Given the description of an element on the screen output the (x, y) to click on. 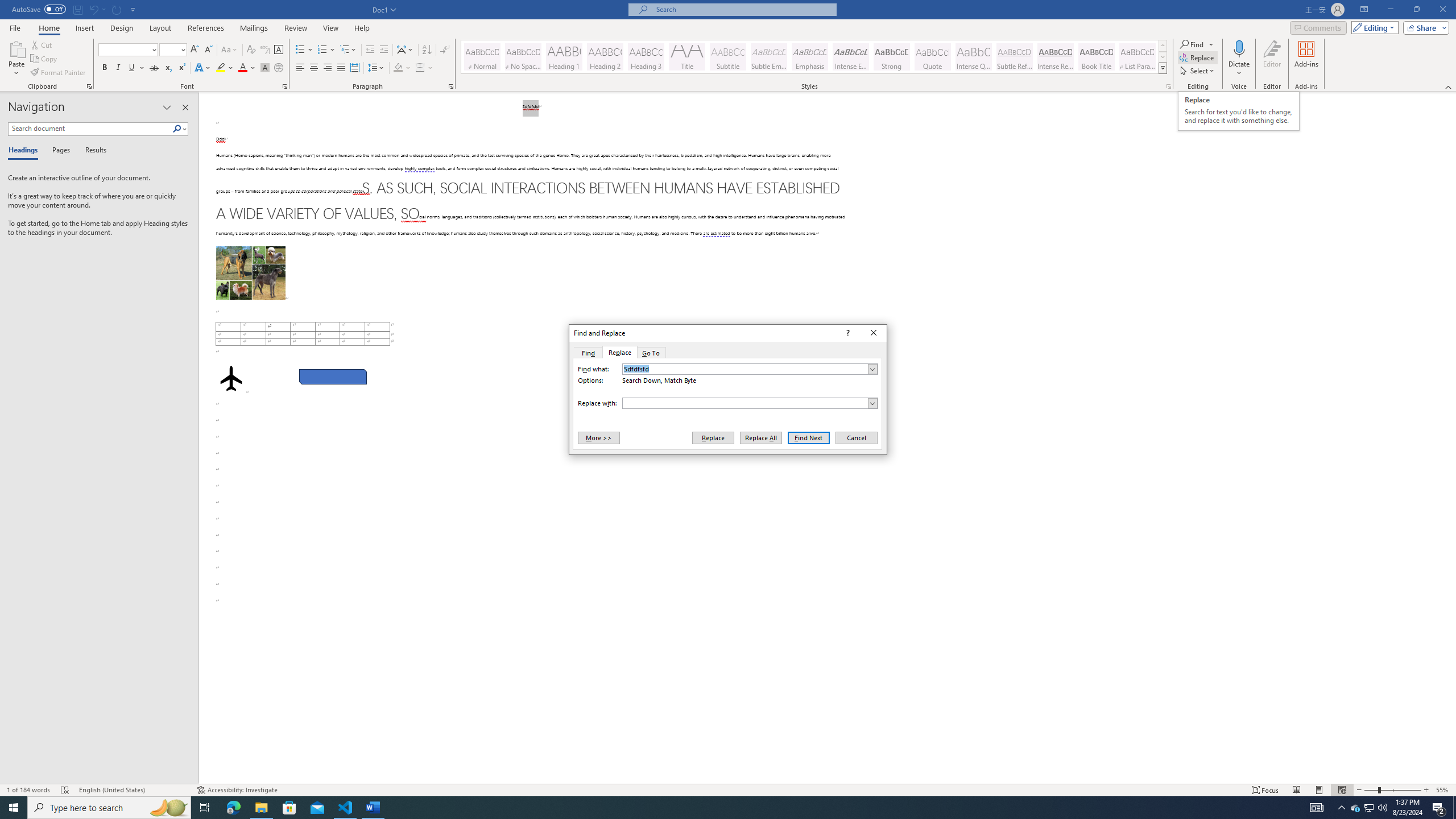
Grow Font (193, 49)
Find Next (808, 437)
Word - 1 running window (373, 807)
AutomationID: 4105 (1316, 807)
Type here to search (108, 807)
Clear Formatting (250, 49)
Context help (847, 333)
Subtitle (727, 56)
Phonetic Guide... (264, 49)
